Given the description of an element on the screen output the (x, y) to click on. 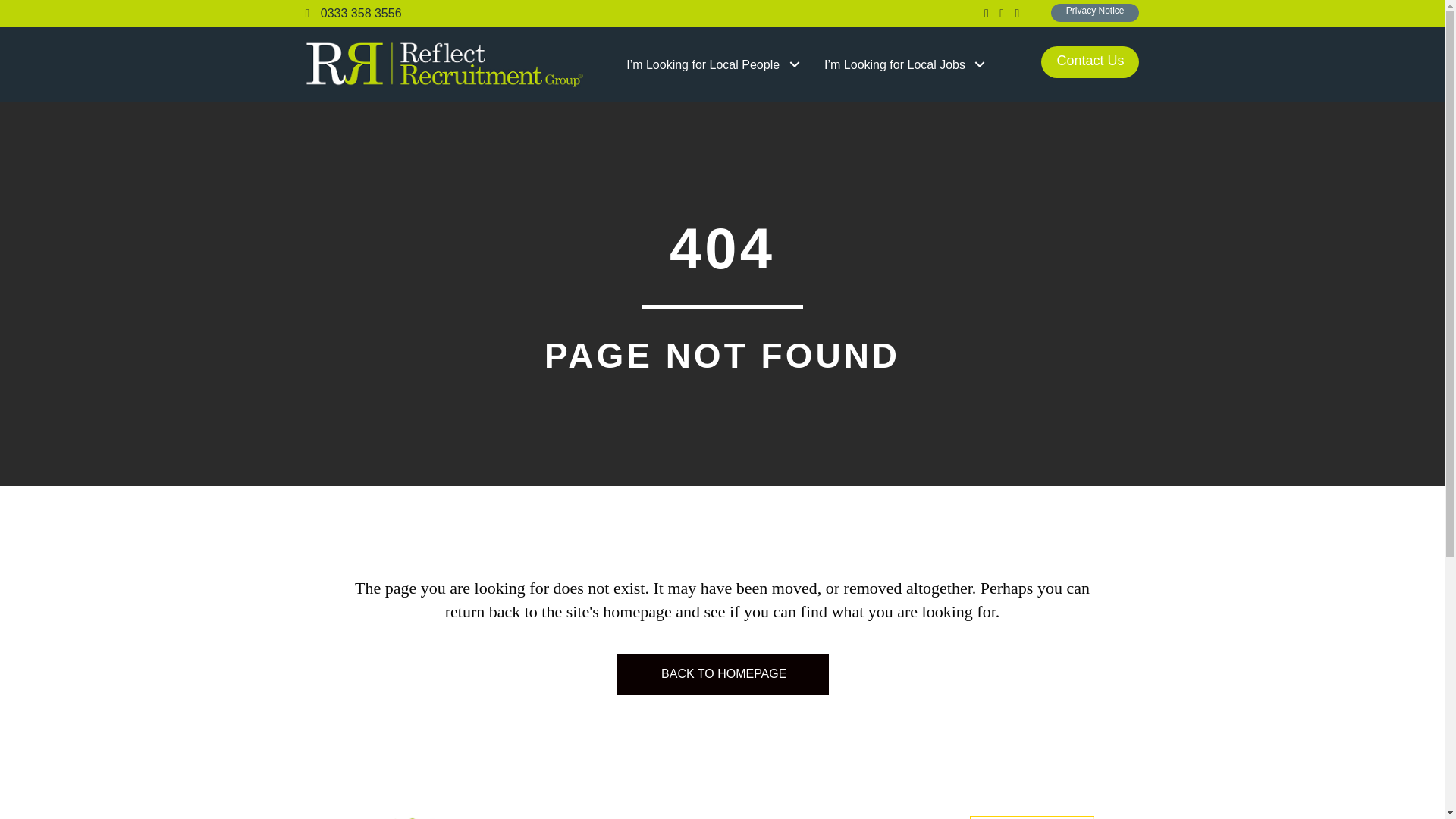
Contact Us (1089, 61)
Privacy Notice (1095, 13)
logo-long (443, 63)
BACK TO HOMEPAGE (721, 674)
Gold Trusted Service Award 2024 - Badge - 1x1 (1031, 817)
0333 358 3556 (352, 12)
